Given the description of an element on the screen output the (x, y) to click on. 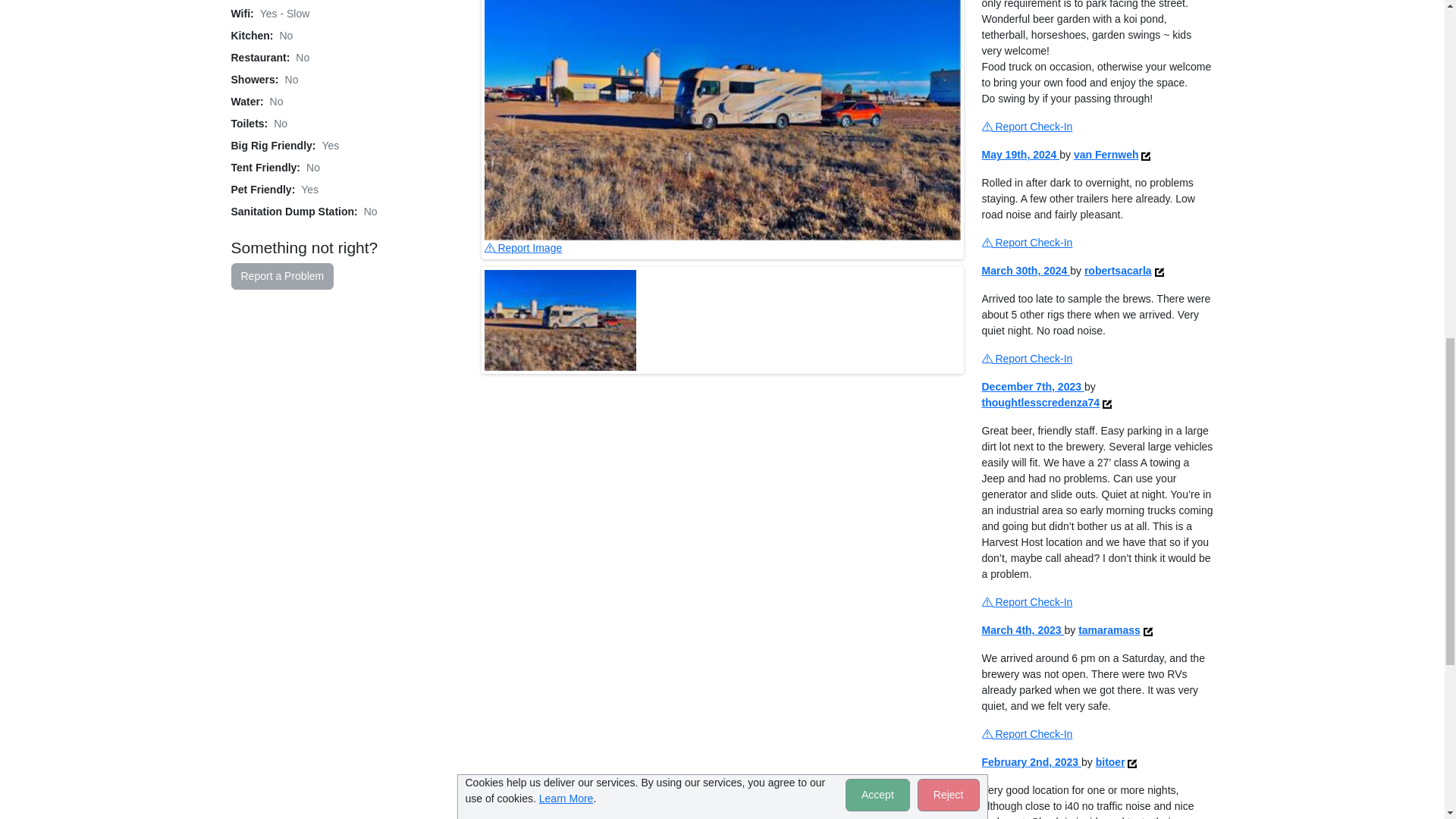
Report a Problem (281, 275)
Report a Problem (281, 275)
Report Image (522, 247)
